Given the description of an element on the screen output the (x, y) to click on. 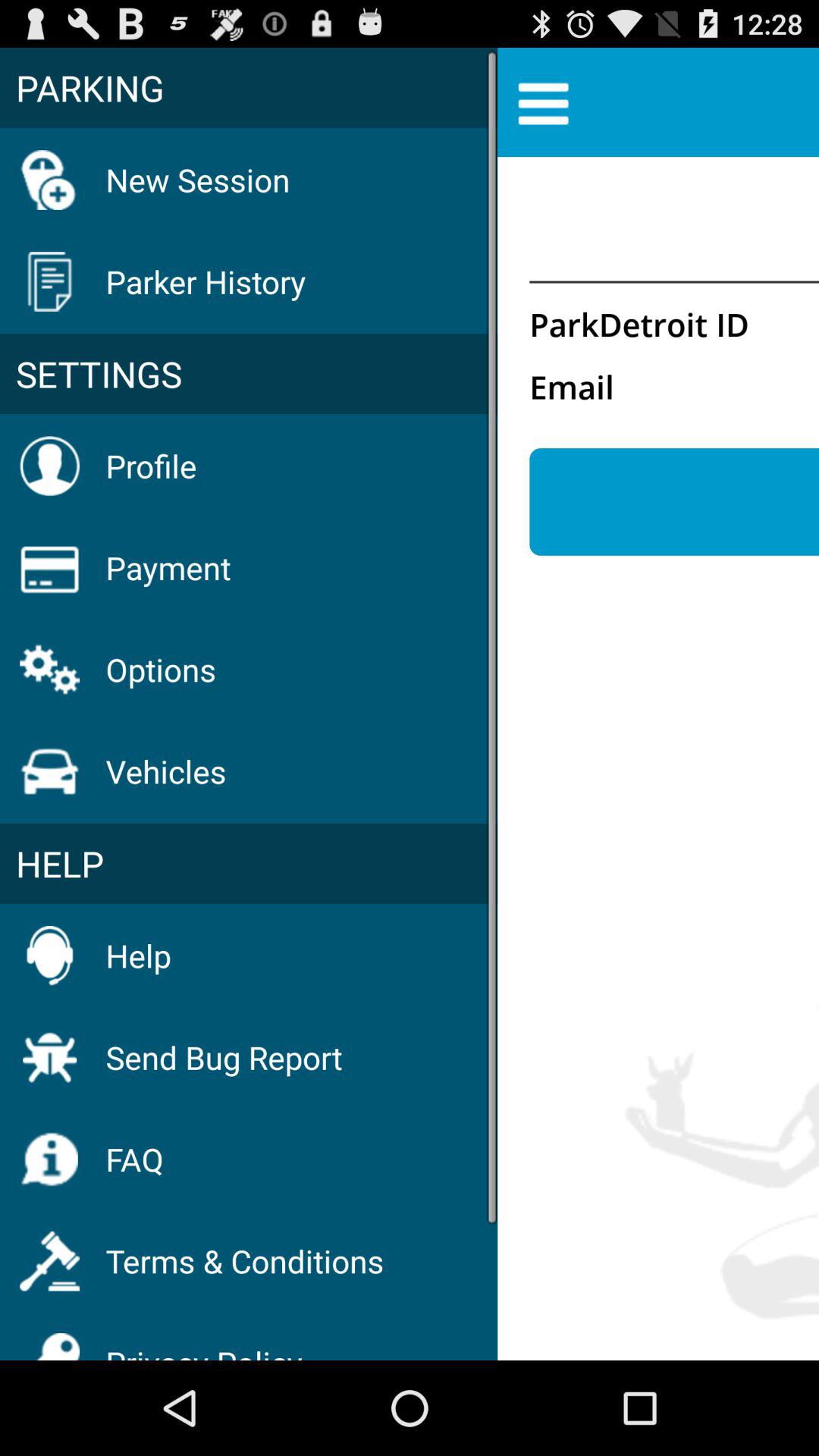
select icon above parker history (197, 179)
